Given the description of an element on the screen output the (x, y) to click on. 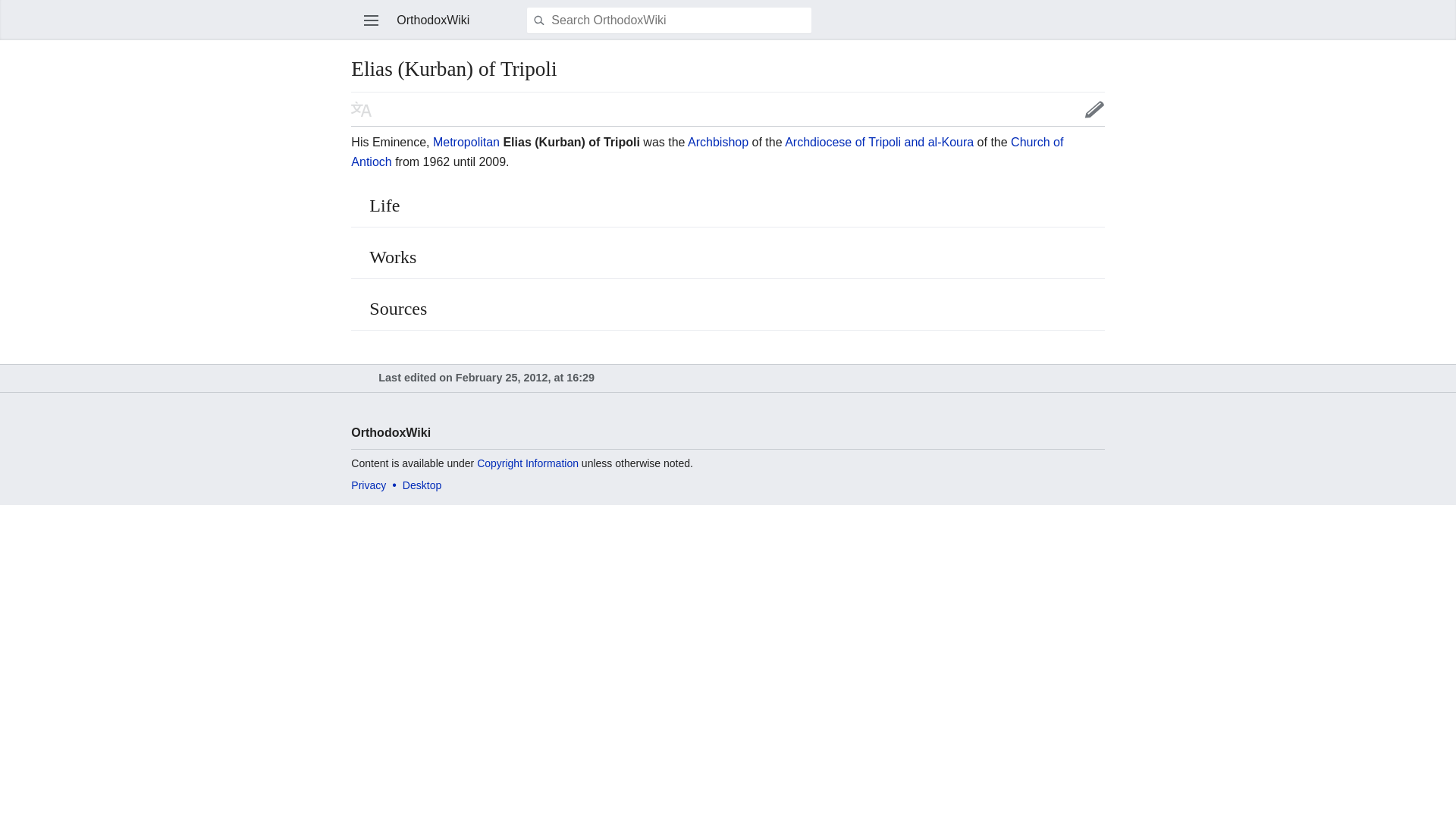
Read in another language (361, 108)
Archdiocese of Tripoli and Al-koura (879, 141)
Archbishop (717, 141)
Metropolitan (465, 141)
Privacy (367, 485)
Open main menu (371, 20)
Edit the lead section of this page (1094, 108)
Church of Antioch (706, 151)
Archbishop (717, 141)
Copyright Information (527, 463)
Metropolitan (465, 141)
Open main menu (371, 20)
Edit (1094, 108)
Church of Antioch (706, 151)
Last edited on February 25, 2012, at 16:29 (486, 377)
